Given the description of an element on the screen output the (x, y) to click on. 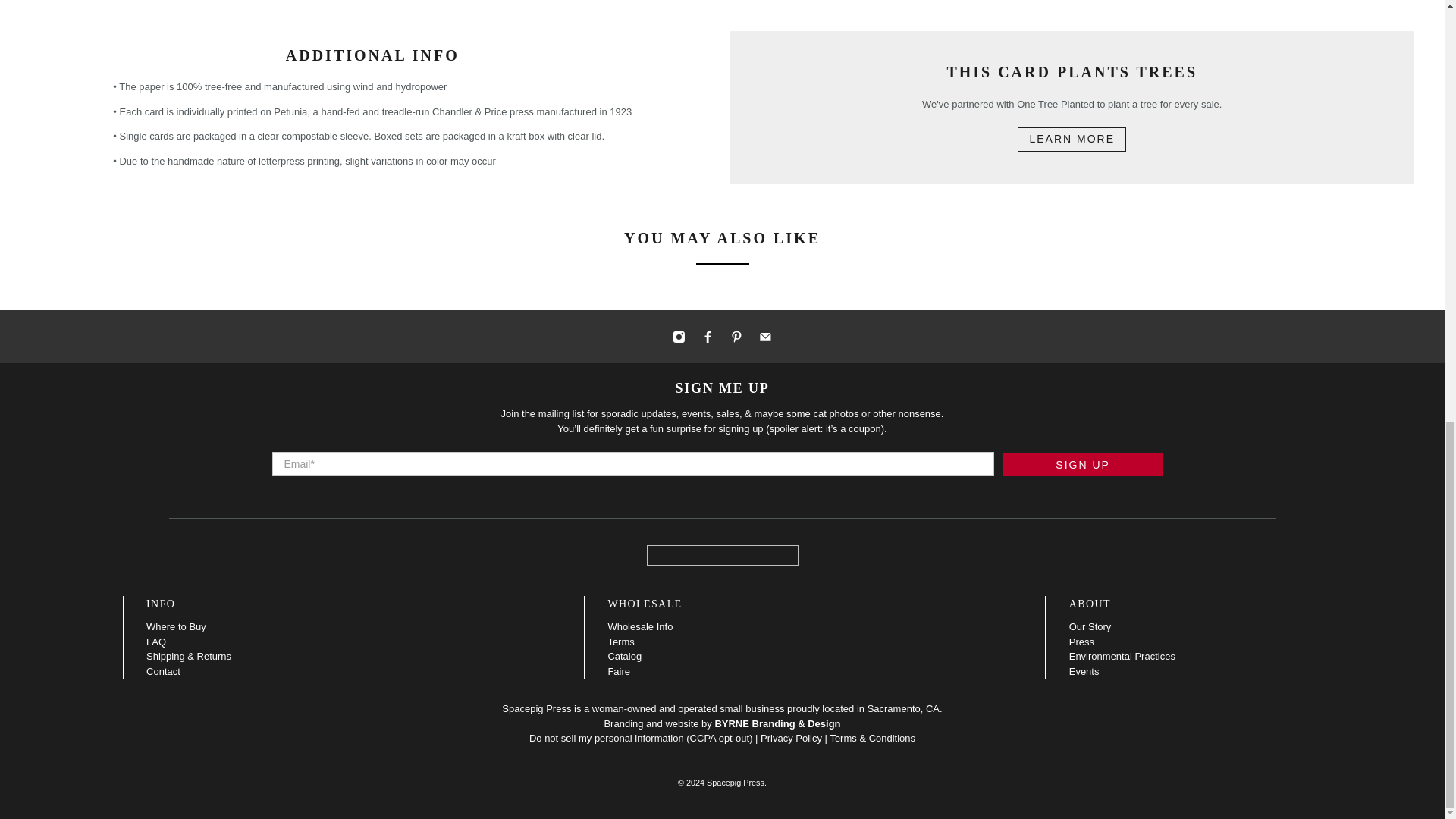
Spacepig Press (721, 555)
Do not sell my personal information (606, 737)
Privacy Policy (791, 737)
Terms of Service (872, 737)
